Given the description of an element on the screen output the (x, y) to click on. 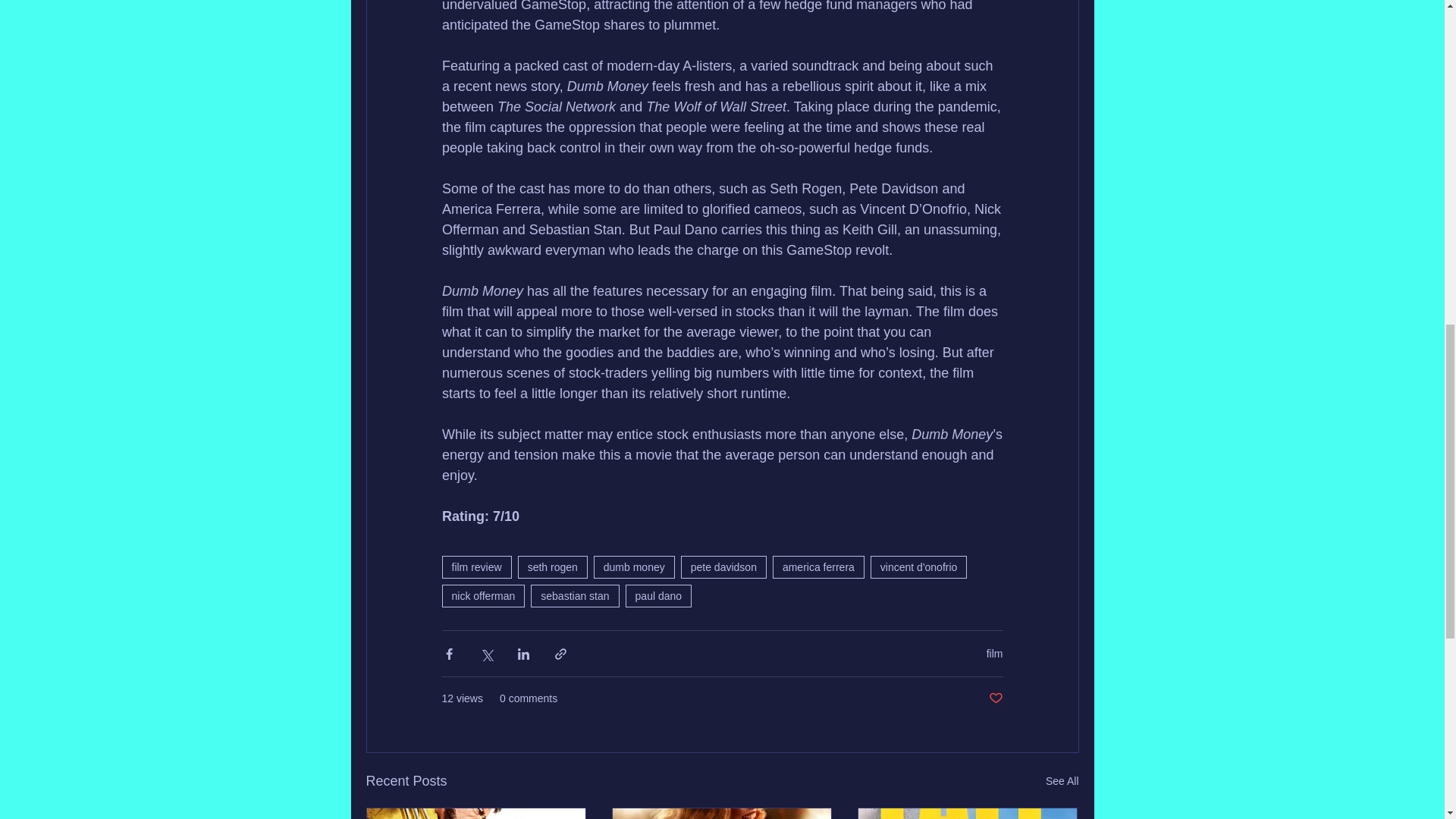
dumb money (634, 567)
nick offerman (482, 595)
sebastian stan (574, 595)
america ferrera (818, 567)
Post not marked as liked (995, 698)
paul dano (659, 595)
film (995, 653)
seth rogen (553, 567)
vincent d'onofrio (919, 567)
film review (476, 567)
See All (1061, 781)
pete davidson (724, 567)
